Given the description of an element on the screen output the (x, y) to click on. 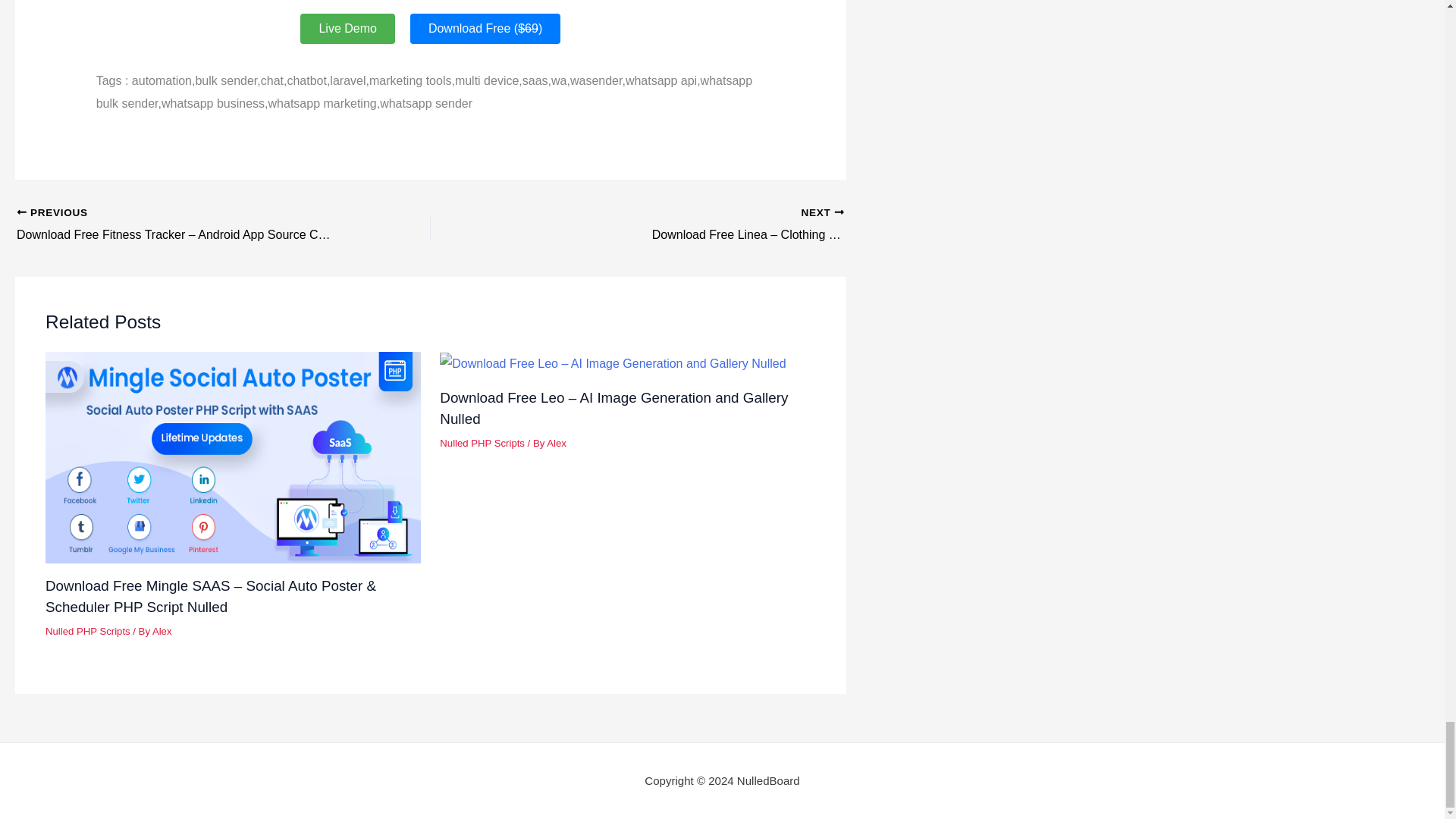
View all posts by Alex (161, 631)
Nulled PHP Scripts (481, 442)
Alex (161, 631)
Live Demo (346, 28)
Alex (556, 442)
Nulled PHP Scripts (88, 631)
View all posts by Alex (556, 442)
